Given the description of an element on the screen output the (x, y) to click on. 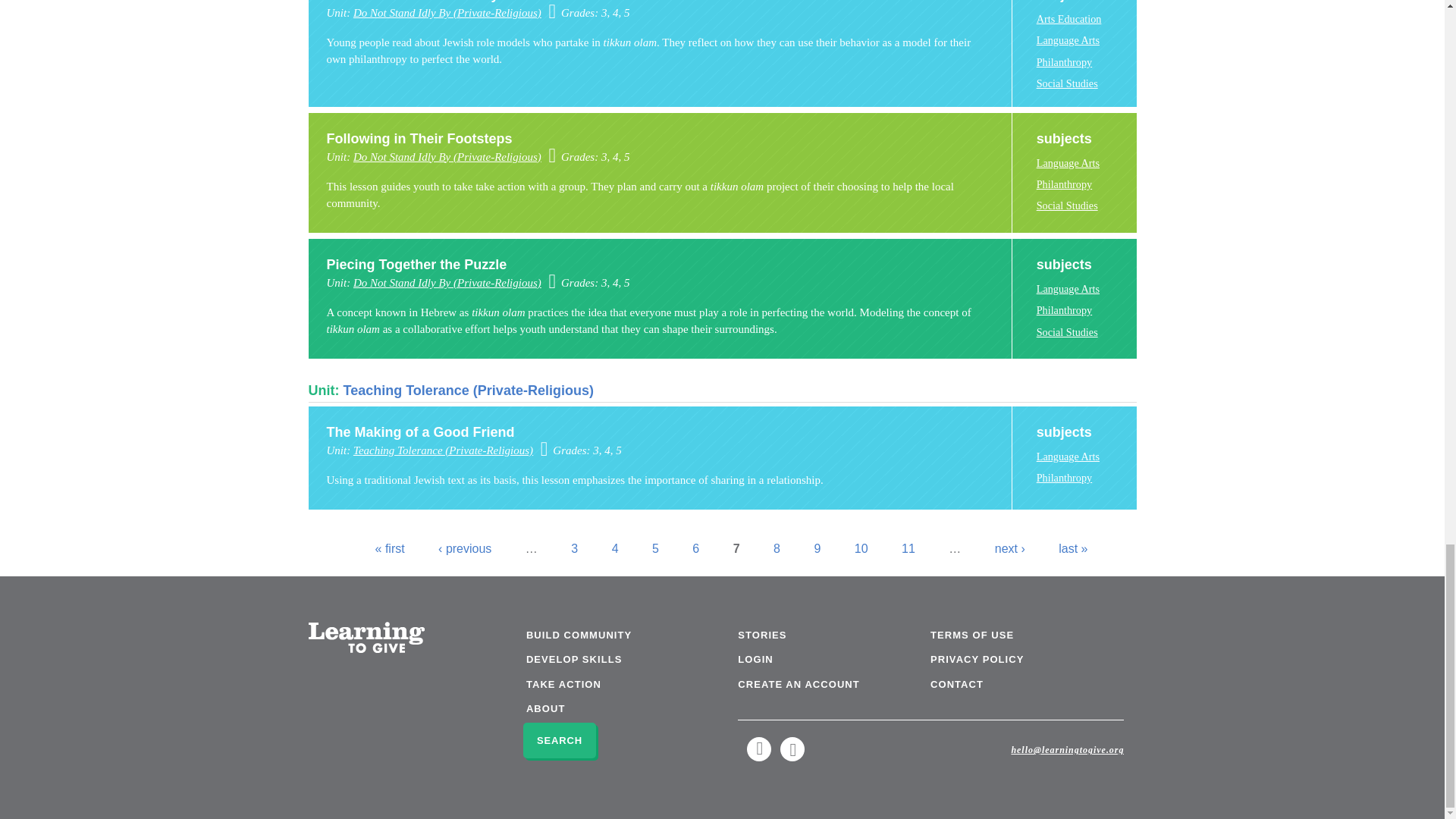
Go to first page (389, 548)
